Given the description of an element on the screen output the (x, y) to click on. 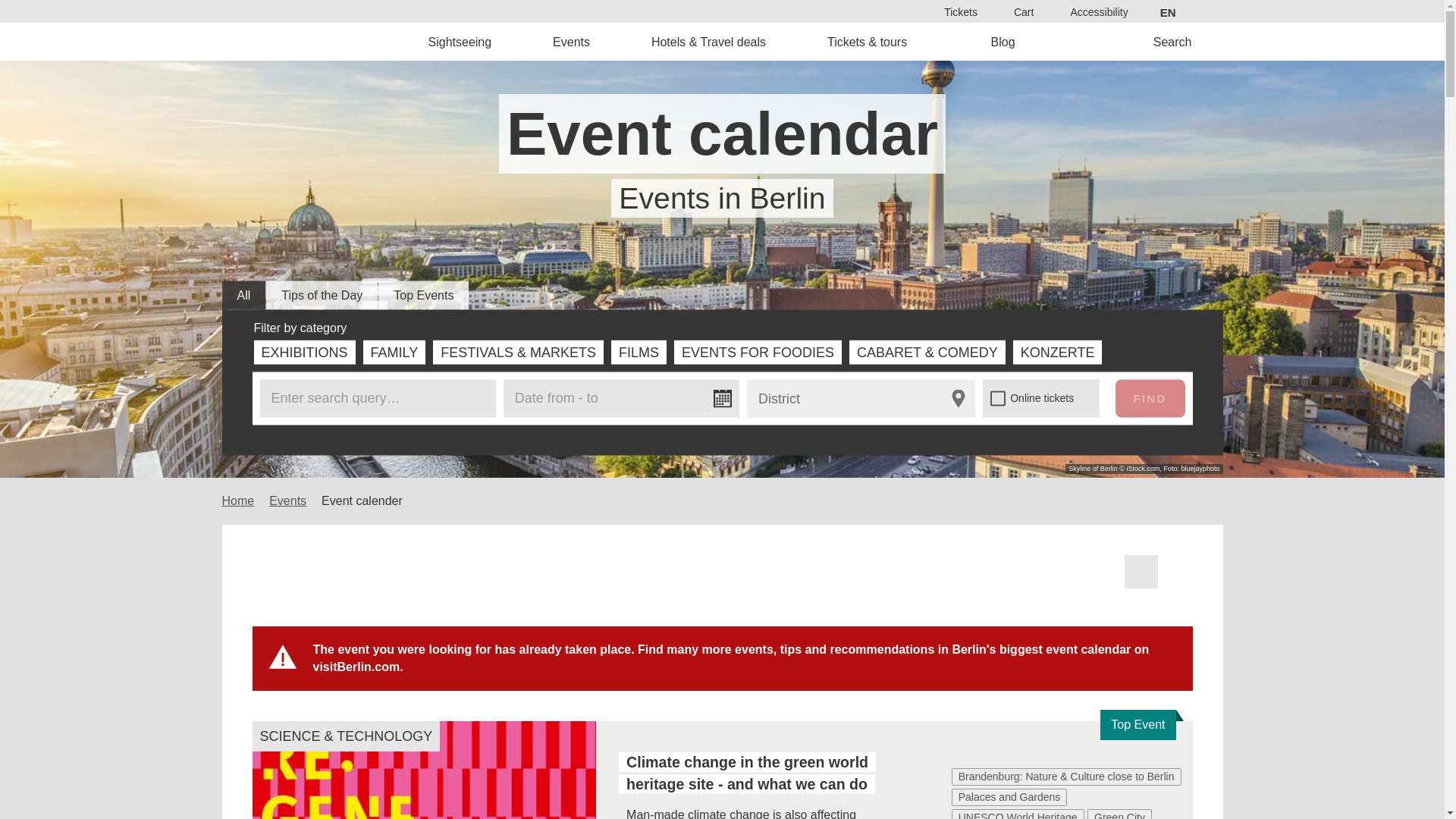
Sightseeing (460, 41)
Find (768, 432)
Events (571, 41)
Find (1150, 397)
Home (327, 41)
